Given the description of an element on the screen output the (x, y) to click on. 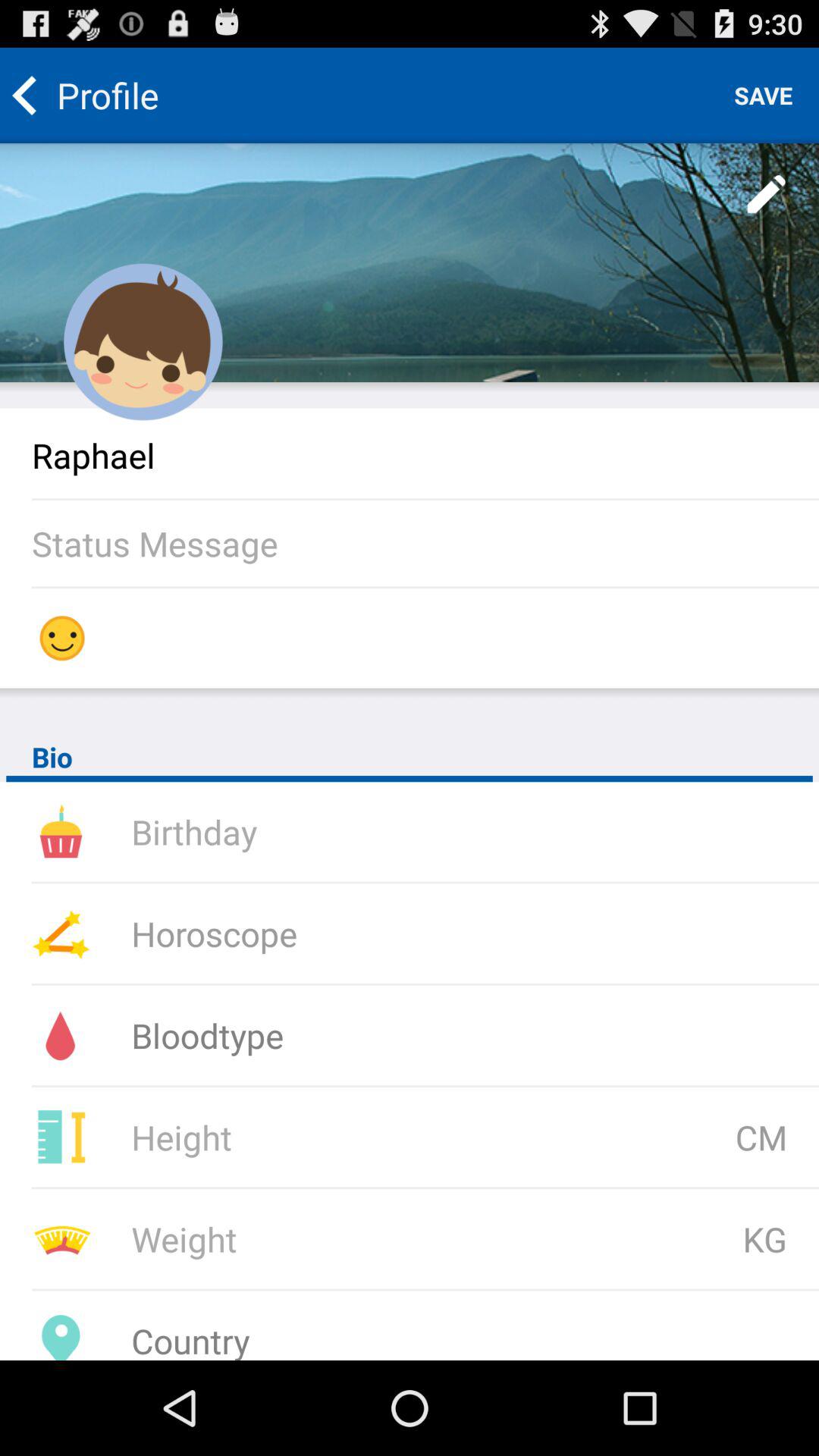
type your birthday (333, 831)
